Given the description of an element on the screen output the (x, y) to click on. 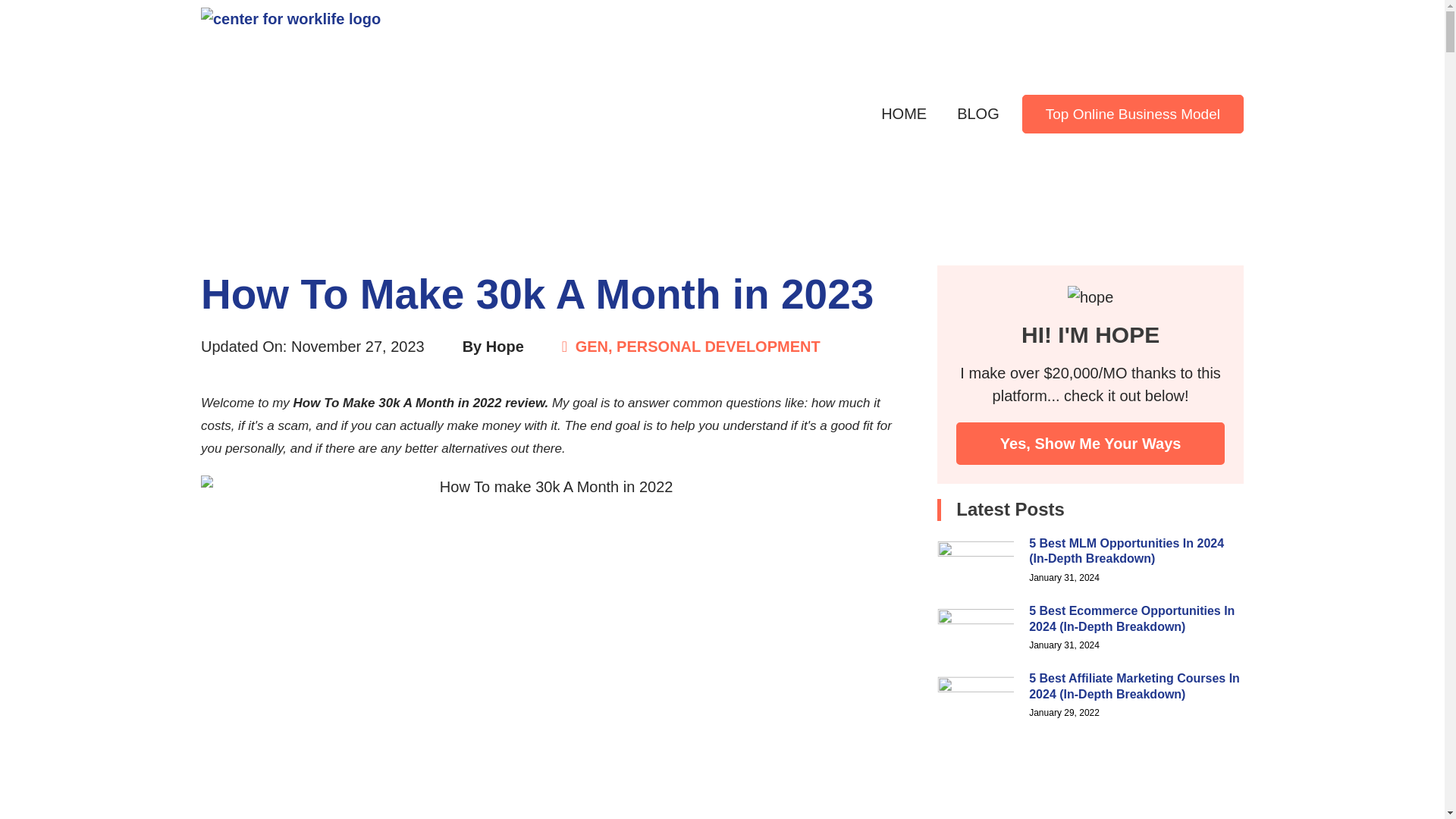
Yes, Show Me Your Ways (1090, 443)
By Hope (493, 346)
GEN (591, 346)
BLOG (977, 113)
HOME (903, 113)
Top Online Business Model (1132, 113)
PERSONAL DEVELOPMENT (718, 346)
